Given the description of an element on the screen output the (x, y) to click on. 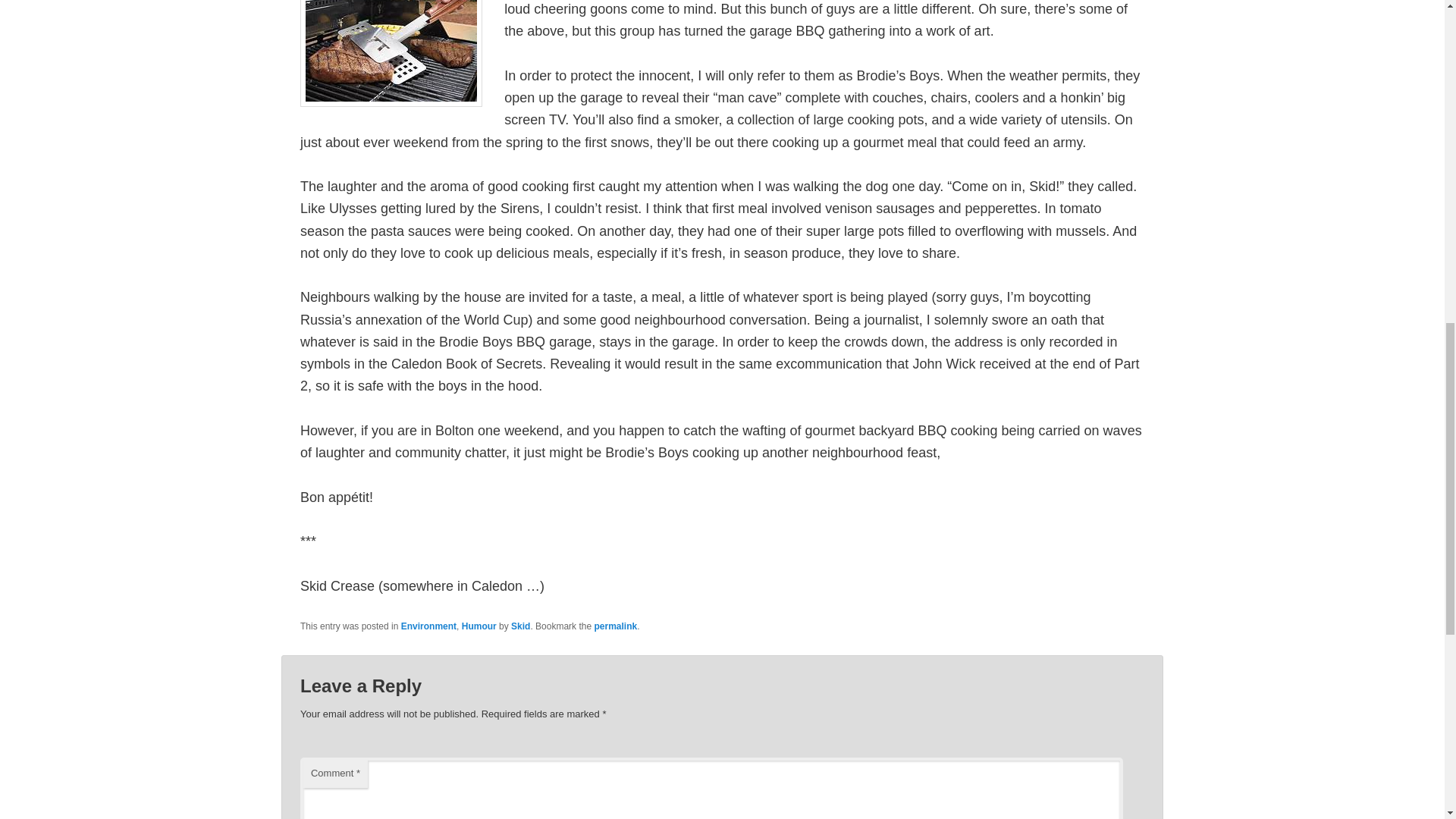
permalink (615, 625)
Humour (478, 625)
Environment (429, 625)
Skid (520, 625)
Permalink to Brodie and the BBQ Boys (615, 625)
